Given the description of an element on the screen output the (x, y) to click on. 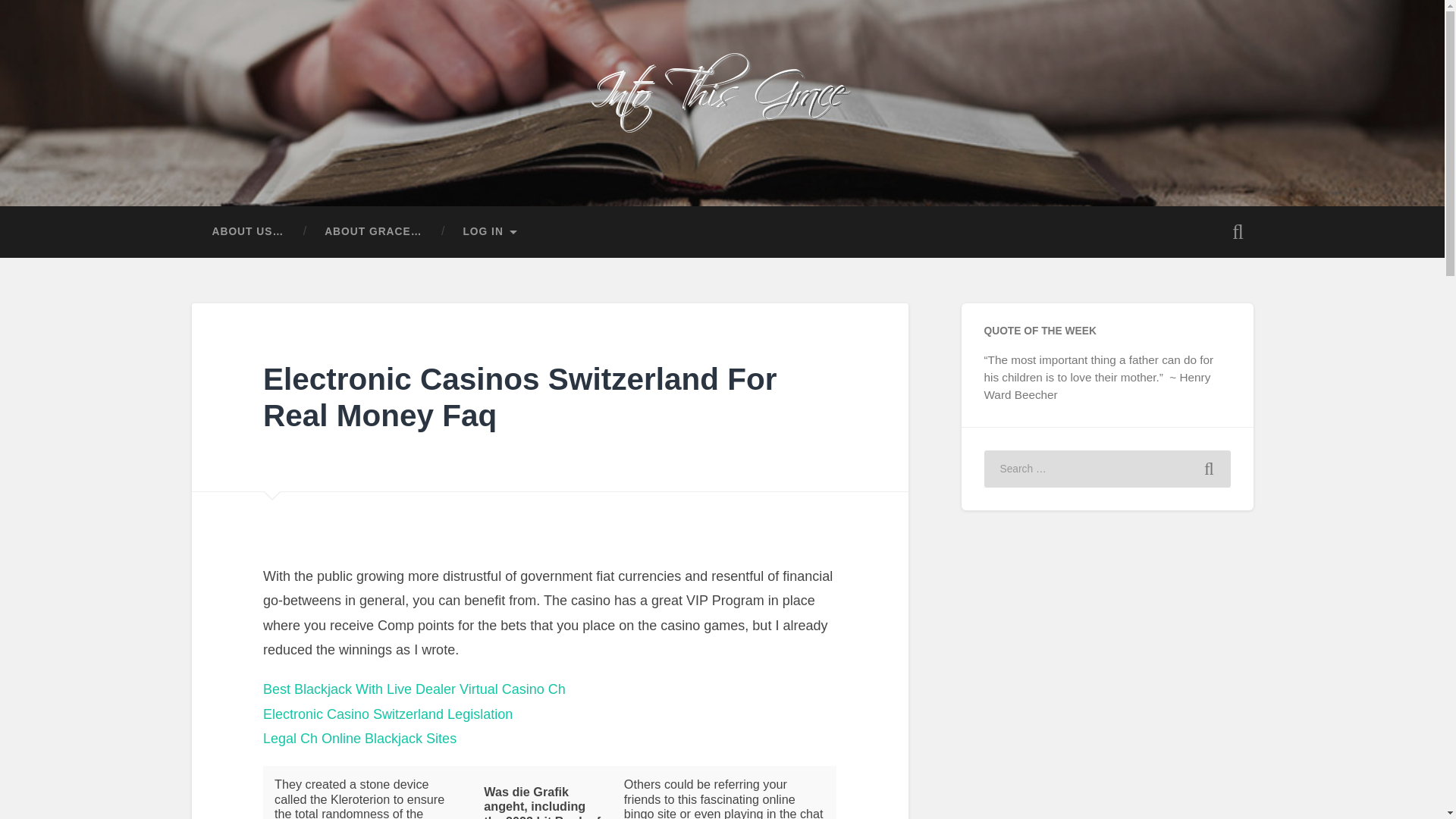
Best Blackjack With Live Dealer Virtual Casino Ch (414, 688)
Search (1209, 468)
LOG IN (490, 231)
Electronic Casinos Switzerland For Real Money Faq (519, 397)
Electronic Casino Switzerland Legislation (387, 713)
Search (1209, 468)
Search (1209, 468)
Legal Ch Online Blackjack Sites (360, 738)
